Given the description of an element on the screen output the (x, y) to click on. 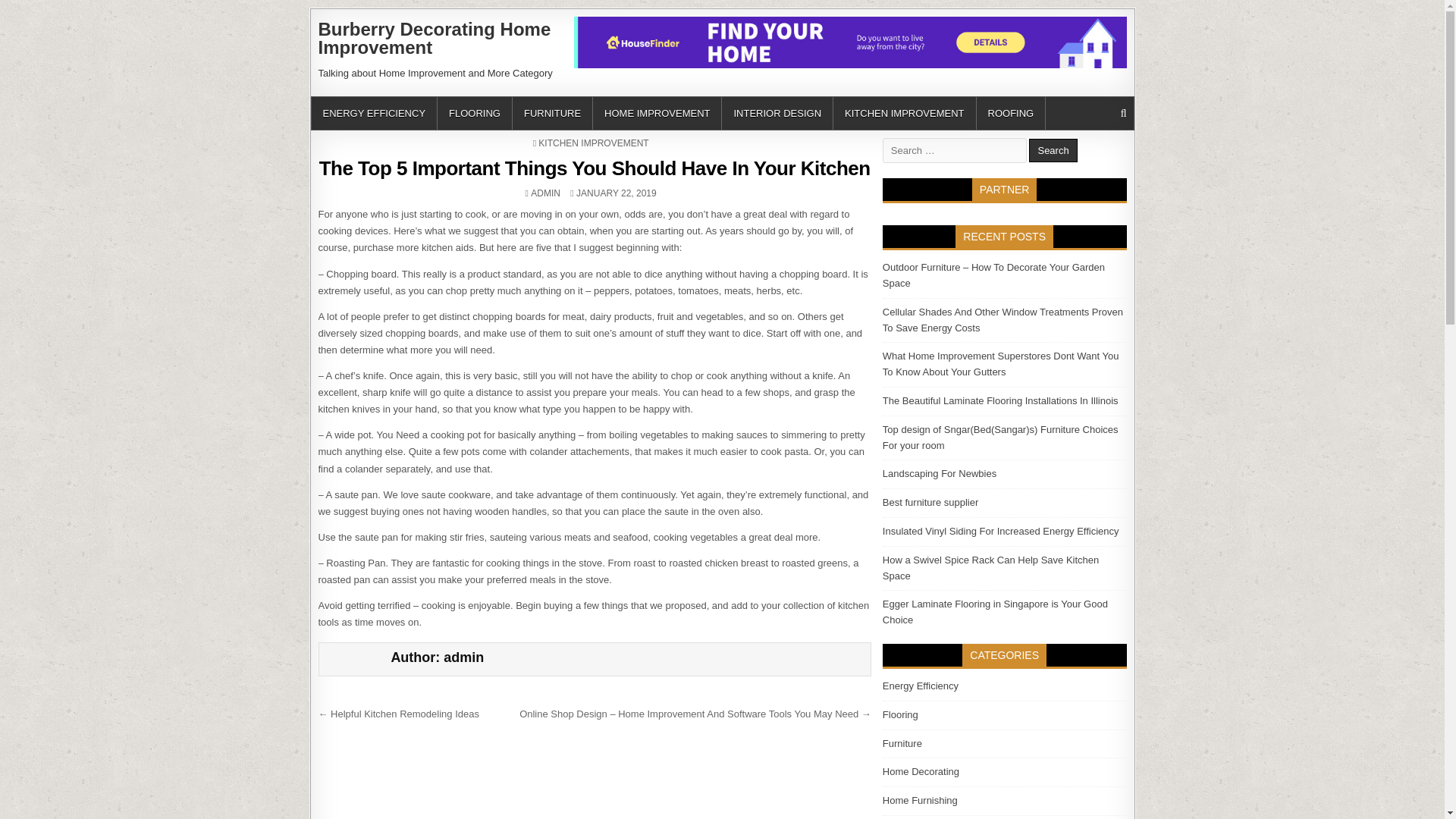
HOME IMPROVEMENT (657, 113)
Search (1053, 150)
INTERIOR DESIGN (777, 113)
ROOFING (545, 193)
The Top 5 Important Things You Should Have In Your Kitchen (1011, 113)
Best furniture supplier (594, 168)
Home Furnishing (930, 501)
Furniture (920, 799)
